Given the description of an element on the screen output the (x, y) to click on. 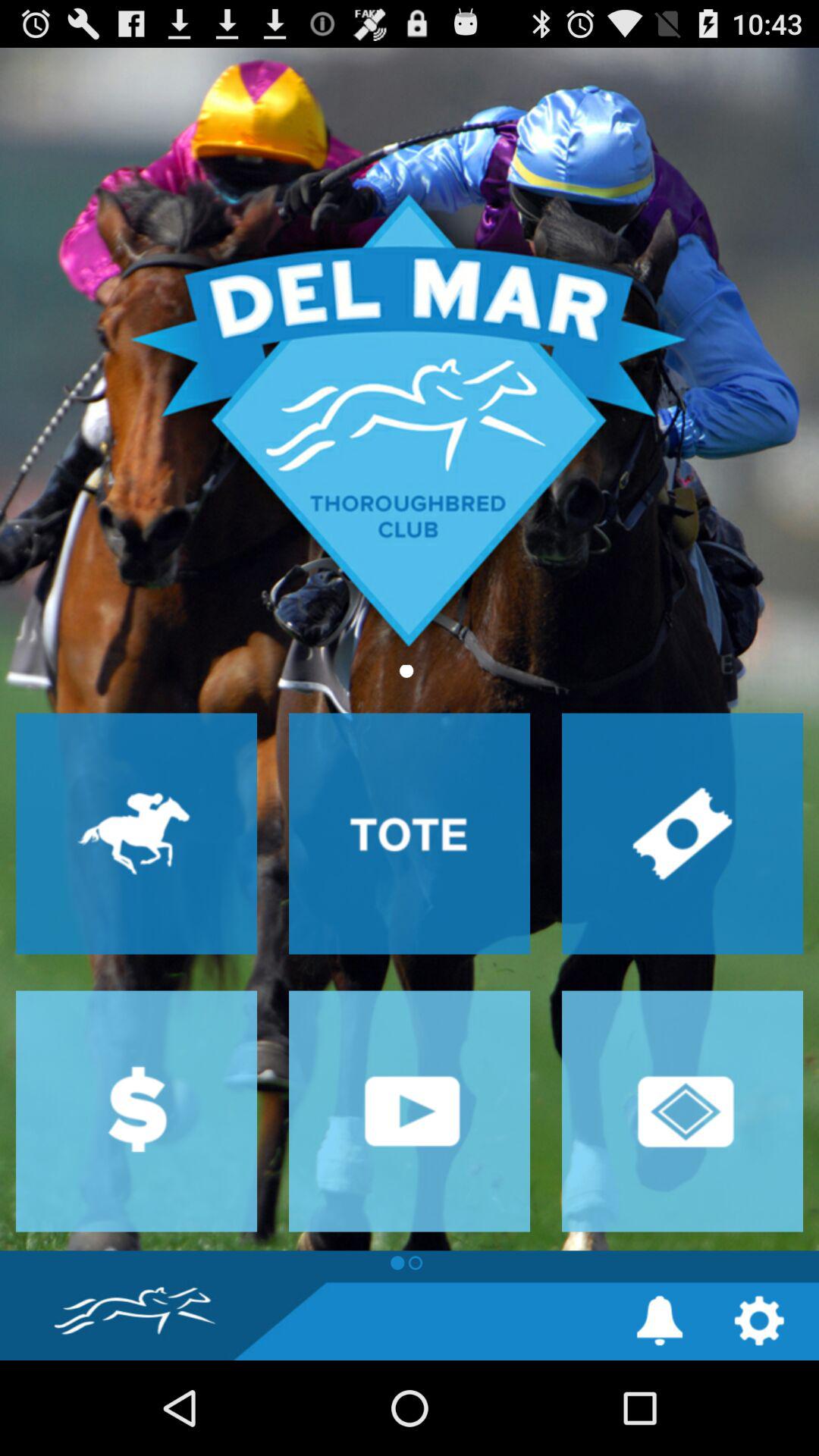
this button in play key (409, 1111)
